Given the description of an element on the screen output the (x, y) to click on. 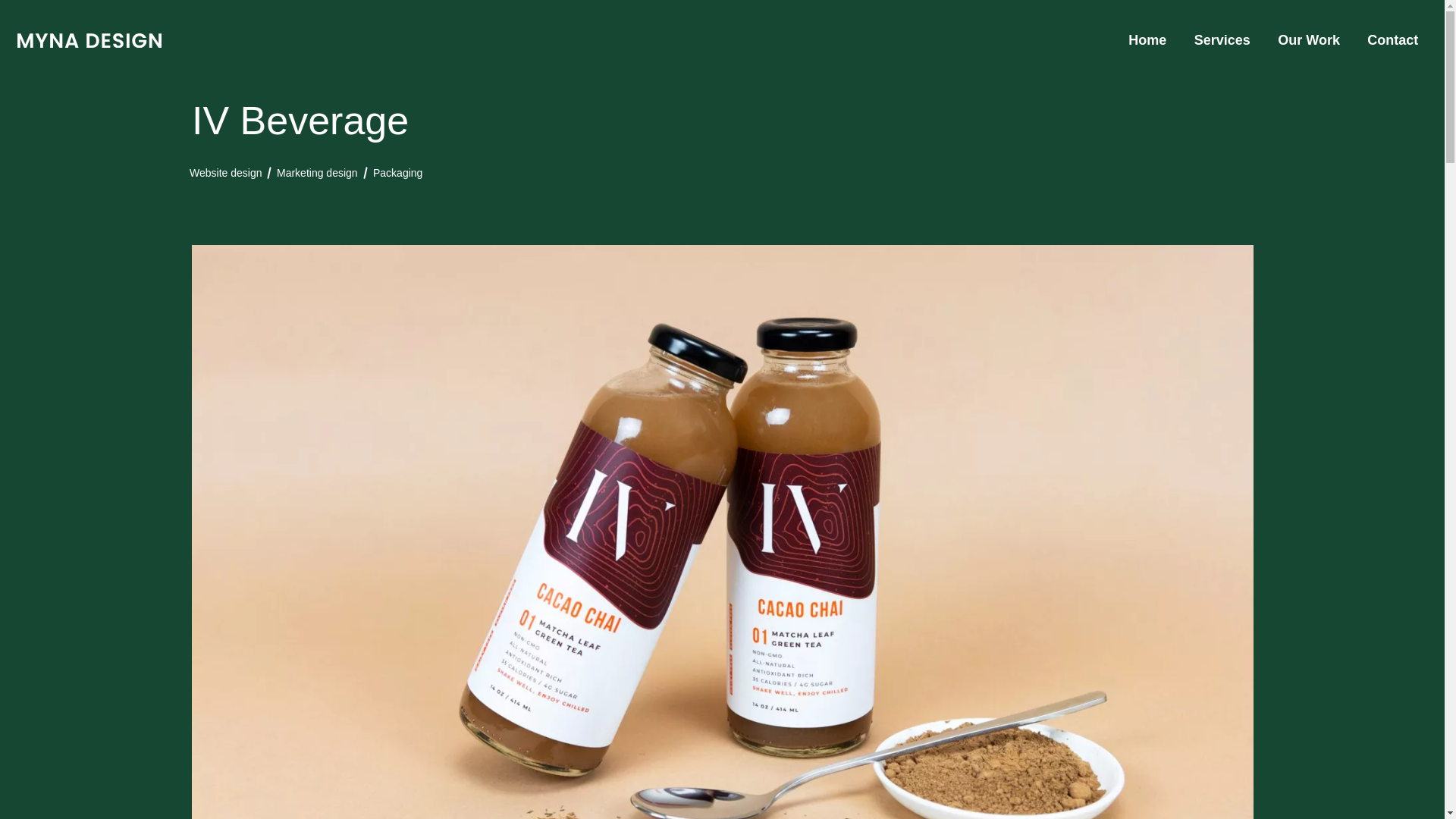
View Image (89, 40)
Our Work (317, 179)
Packaging (1308, 40)
Home (397, 185)
Website design (1147, 40)
View Image (225, 172)
View Image (1392, 40)
